Given the description of an element on the screen output the (x, y) to click on. 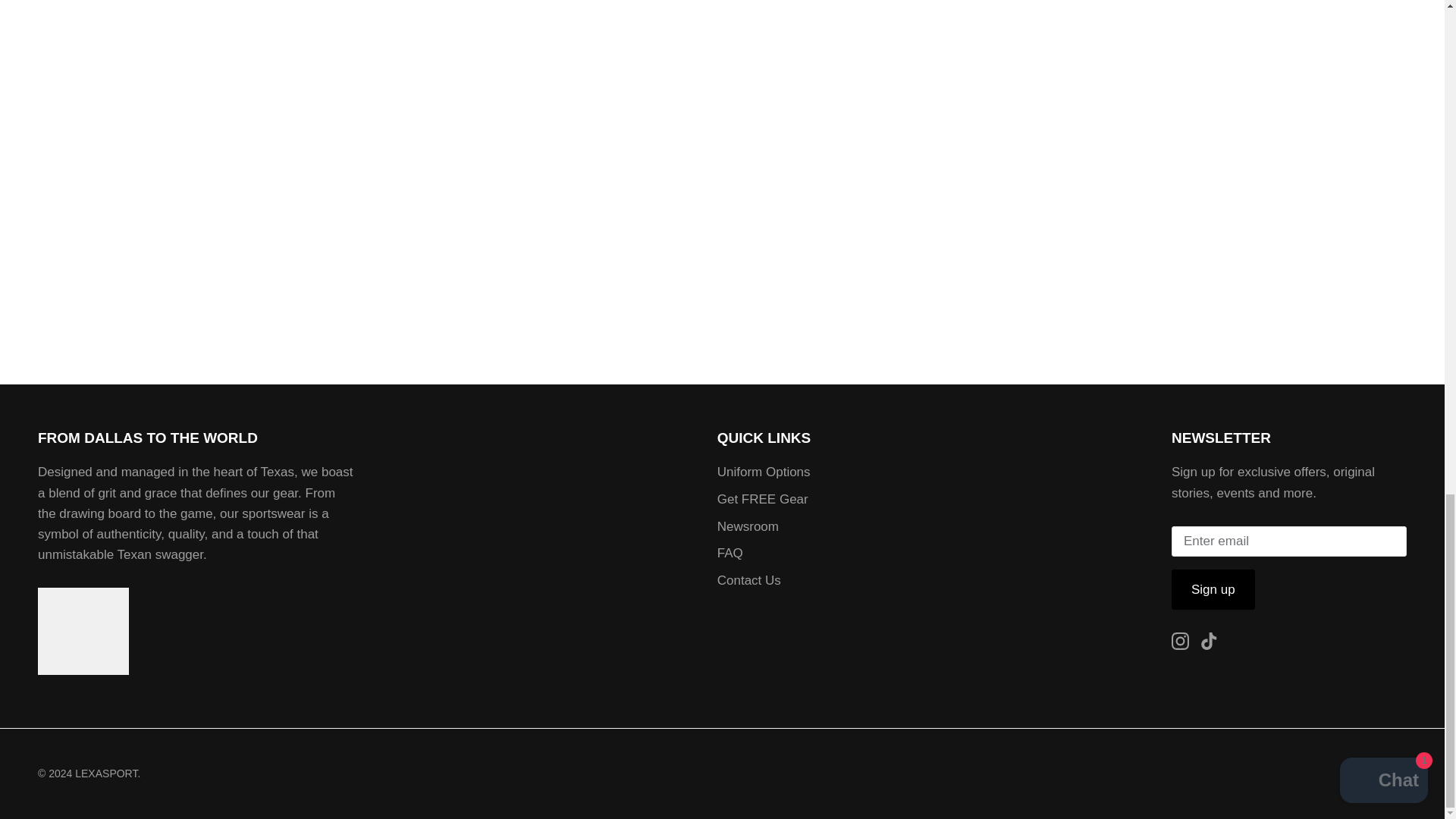
Instagram (1180, 641)
